Given the description of an element on the screen output the (x, y) to click on. 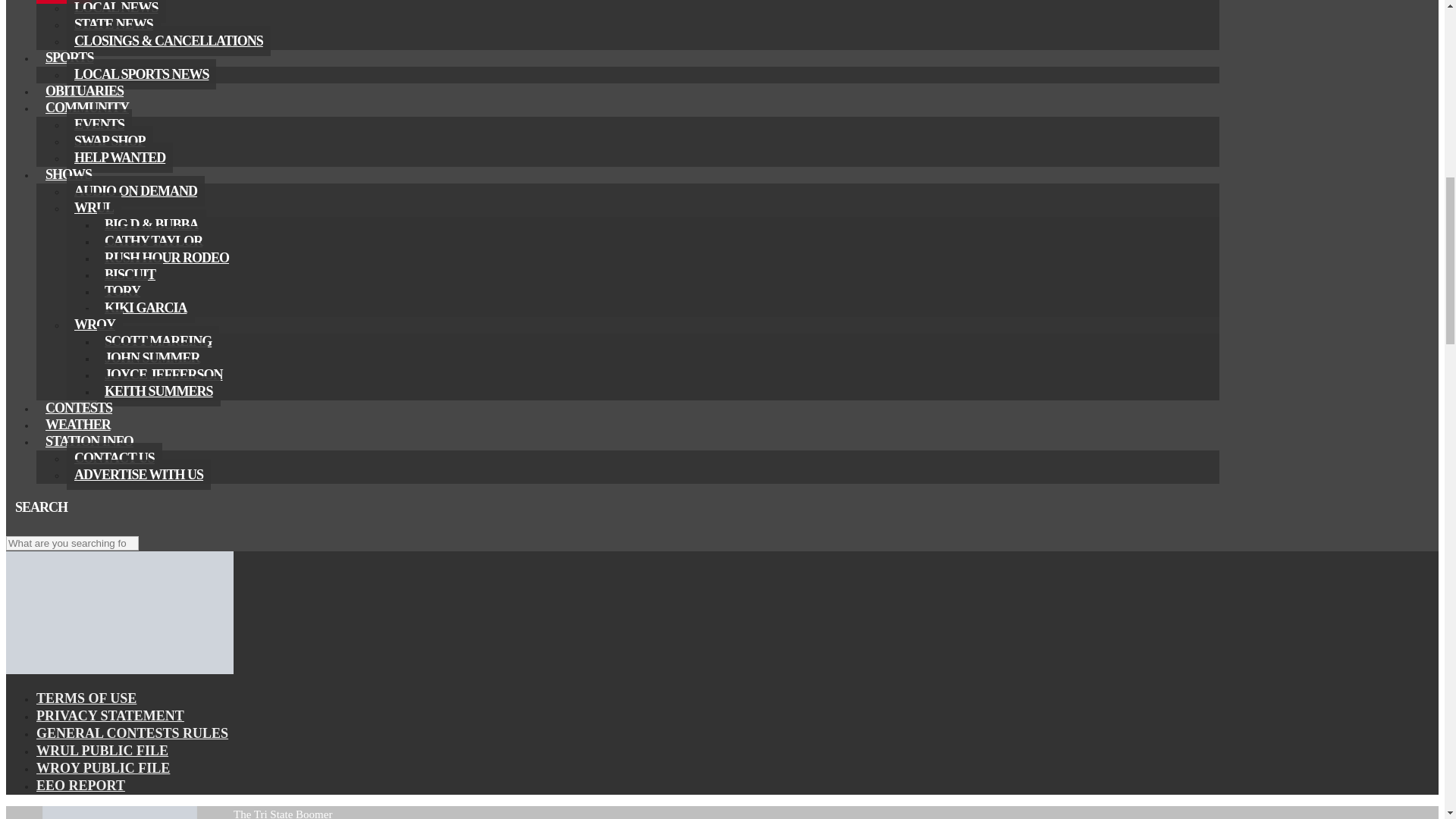
Follow us on Soundcloud (51, 526)
Follow us on X (33, 526)
WRUL-FM (118, 670)
Search for: (71, 543)
Listen on TuneIn (69, 526)
NEWS (63, 2)
Follow us on Facebook (14, 526)
